Given the description of an element on the screen output the (x, y) to click on. 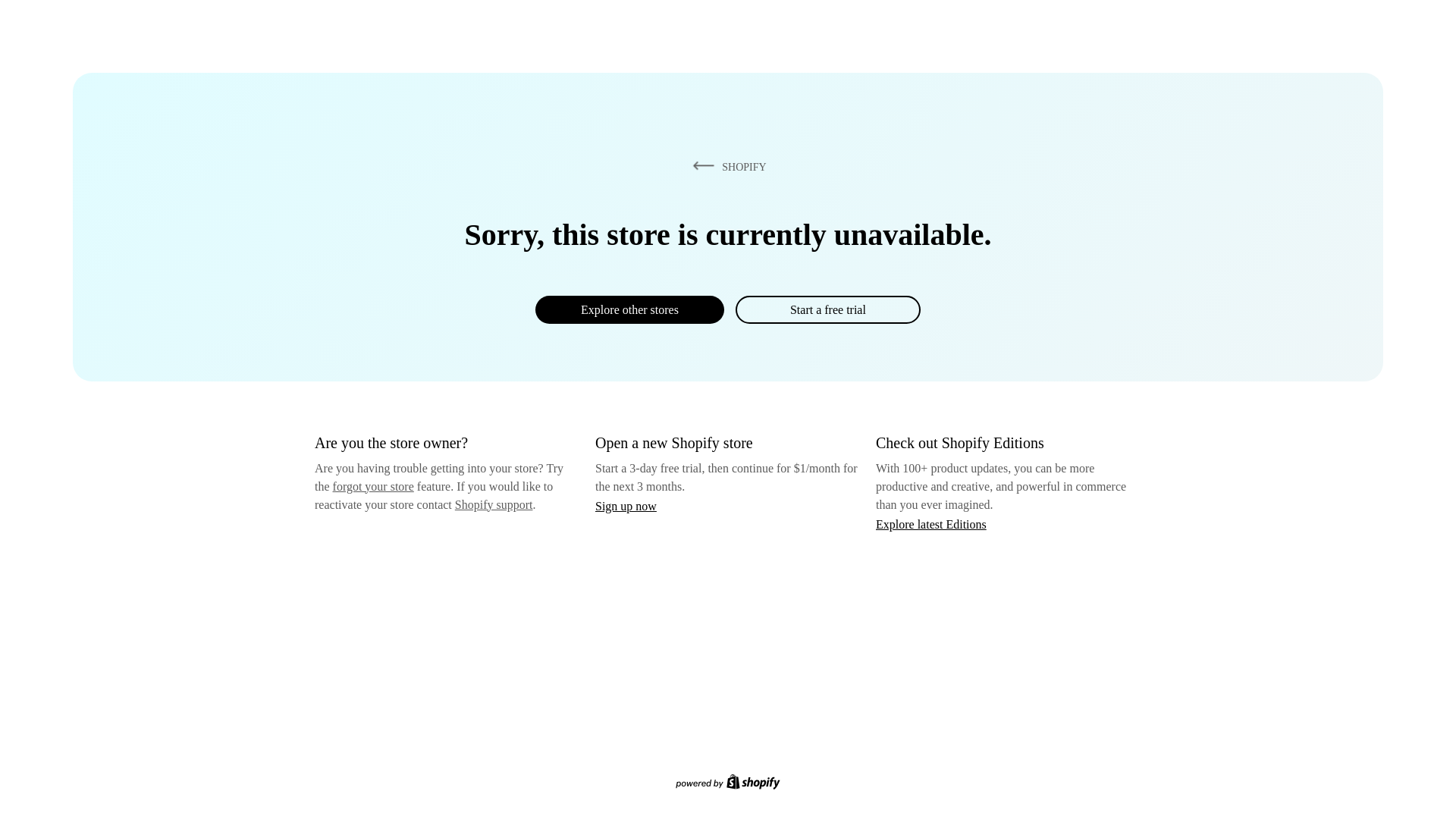
Explore other stores (629, 309)
SHOPIFY (726, 166)
Explore latest Editions (931, 523)
Sign up now (625, 505)
Shopify support (493, 504)
forgot your store (373, 486)
Start a free trial (827, 309)
